Given the description of an element on the screen output the (x, y) to click on. 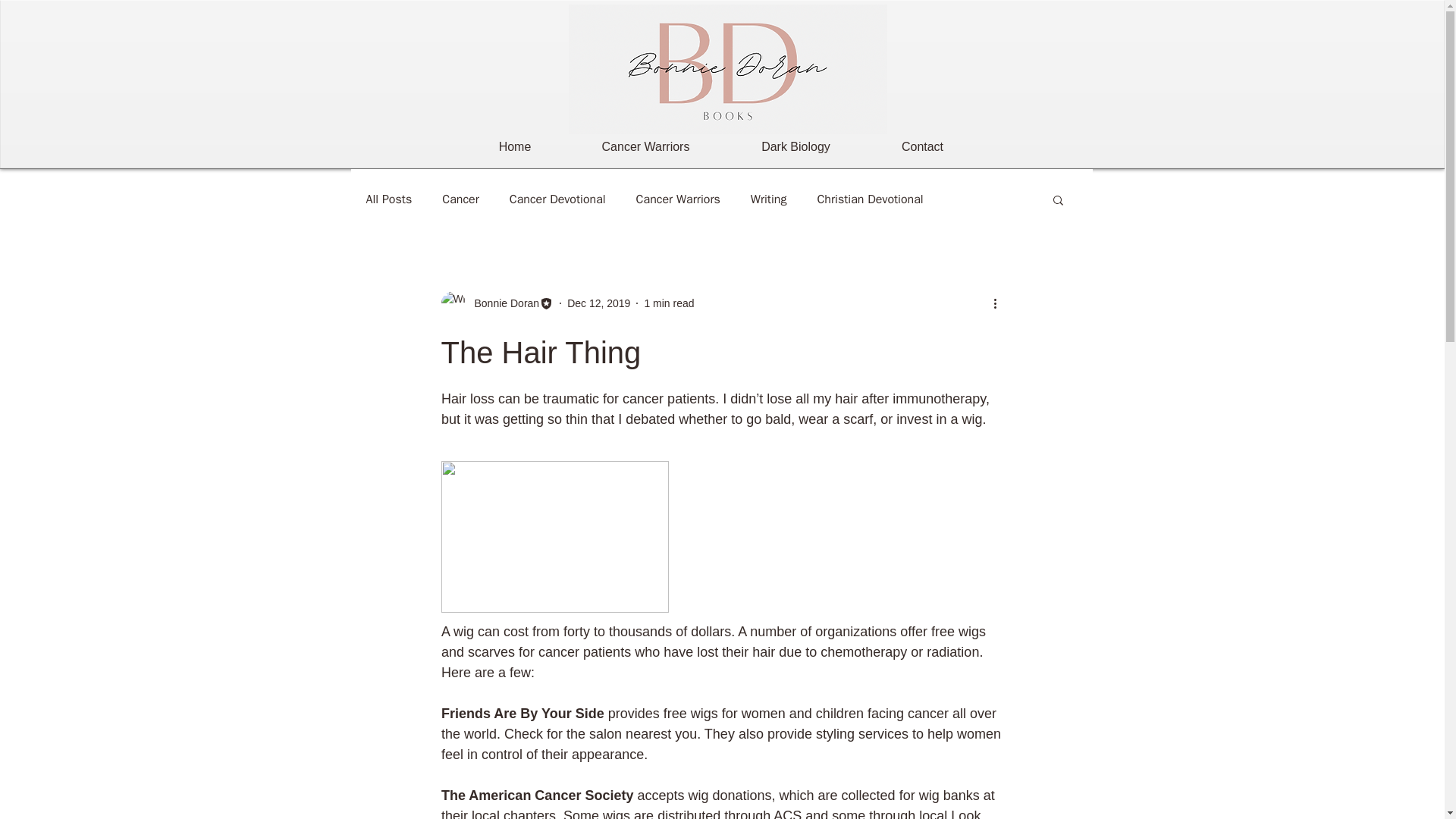
1 min read (668, 303)
Home (515, 146)
Cancer Warriors (645, 146)
Cancer Devotional (557, 198)
Contact (922, 146)
Writing (769, 198)
Cancer Warriors (678, 198)
Dark Biology (795, 146)
Christian Devotional (869, 198)
All Posts (388, 198)
Cancer (460, 198)
Bonnie Doran (502, 303)
Dec 12, 2019 (598, 303)
